Given the description of an element on the screen output the (x, y) to click on. 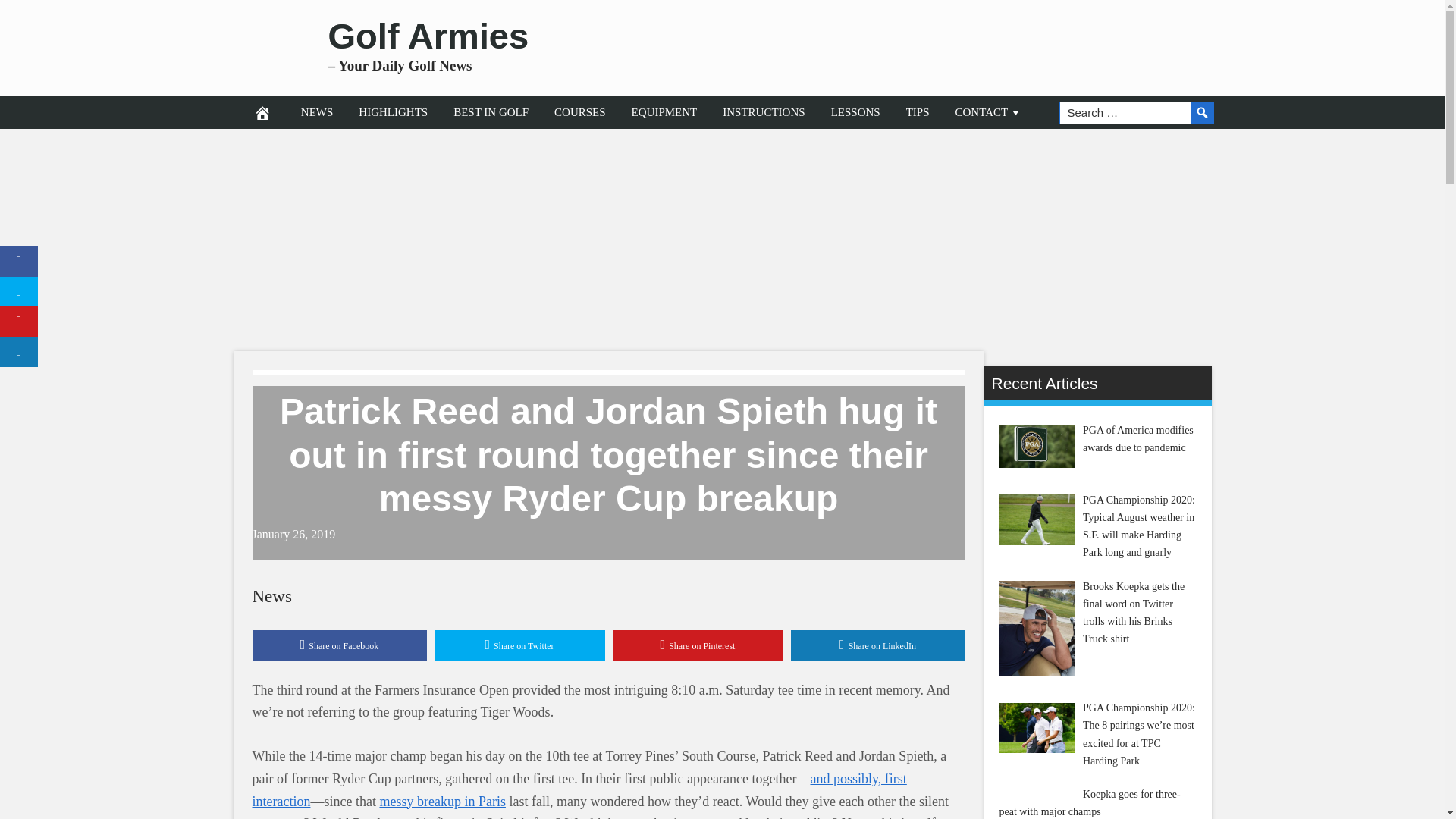
BEST IN GOLF (491, 112)
Golf Armies (427, 35)
TIPS (917, 112)
COURSES (579, 112)
INSTRUCTIONS (763, 112)
CONTACT (988, 112)
LESSONS (855, 112)
HIGHLIGHTS (393, 112)
NEWS (317, 112)
News (271, 596)
